Given the description of an element on the screen output the (x, y) to click on. 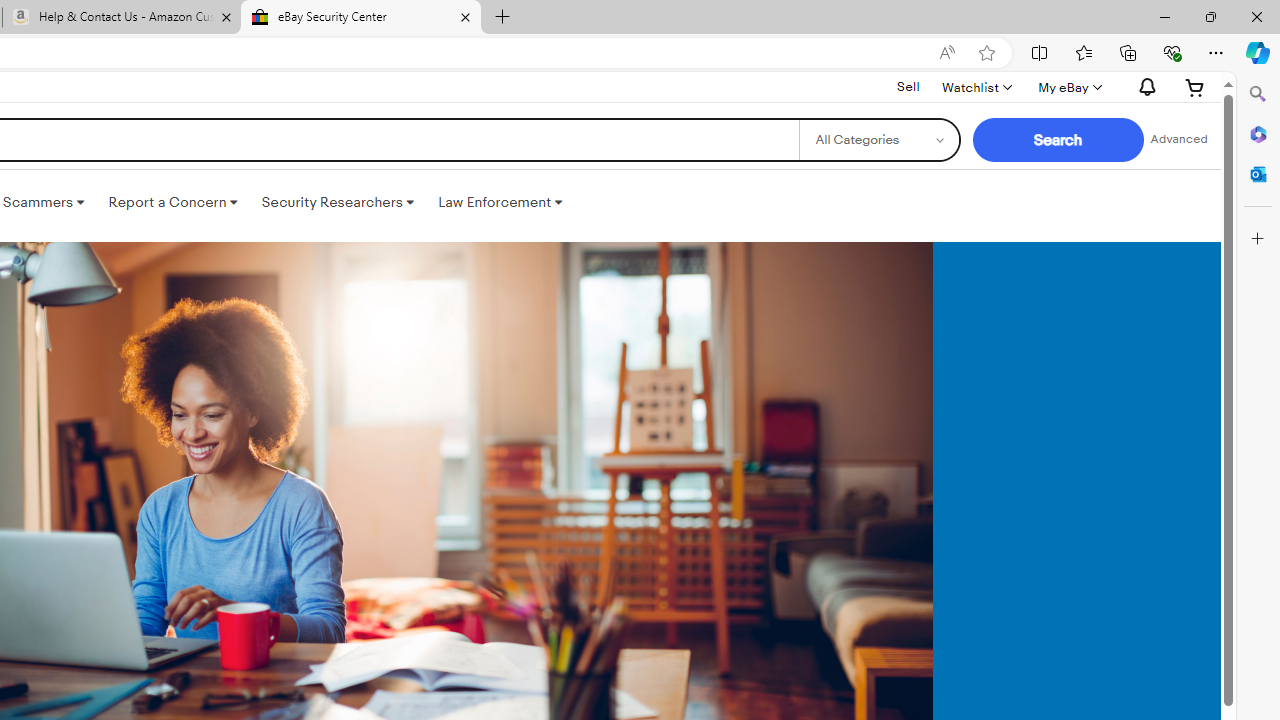
AutomationID: gh-eb-Alerts (1144, 87)
Law Enforcement  (500, 202)
Expand Cart (1195, 87)
